Given the description of an element on the screen output the (x, y) to click on. 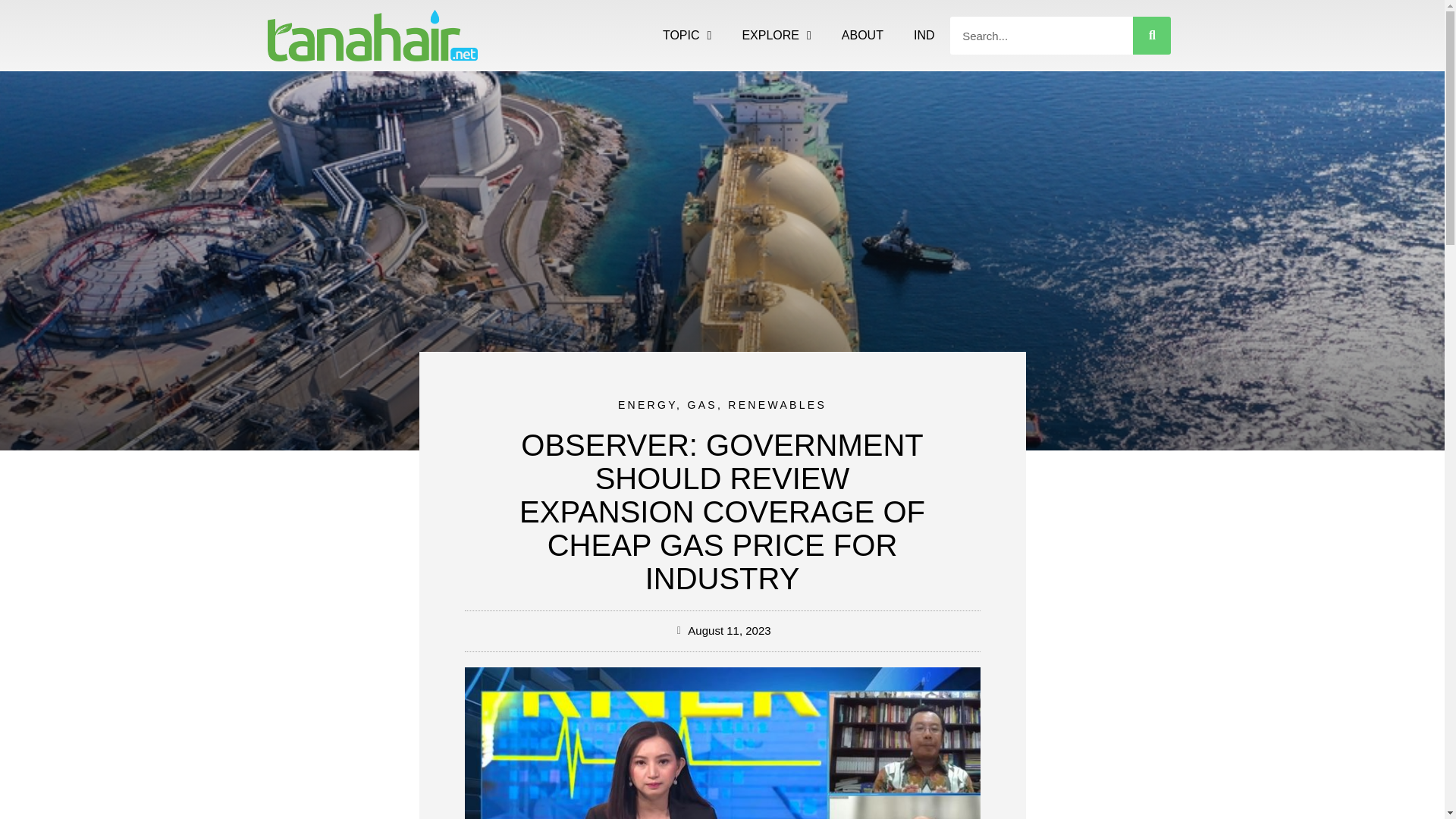
IND (924, 35)
ABOUT (862, 35)
TOPIC (686, 35)
EXPLORE (775, 35)
